Given the description of an element on the screen output the (x, y) to click on. 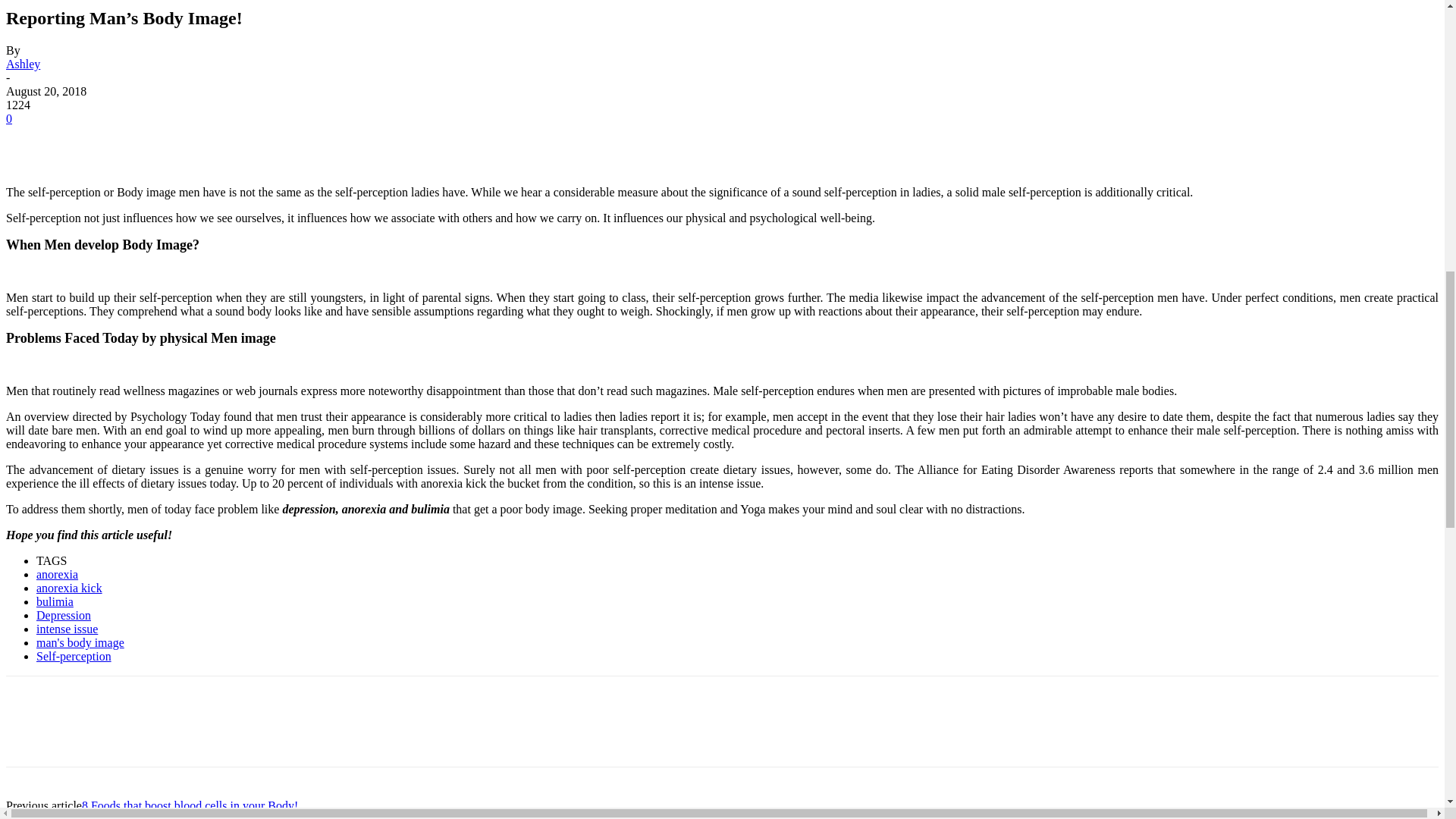
8 Foods that boost blood cells in your Body! (189, 805)
Is it significant to know the Cholesterol level? (174, 816)
Depression (63, 615)
intense issue (66, 628)
anorexia kick (68, 587)
Self-perception (74, 656)
bulimia (55, 601)
anorexia (57, 574)
man's body image (79, 642)
bottomFacebookLike (118, 700)
Ashley (22, 63)
